Given the description of an element on the screen output the (x, y) to click on. 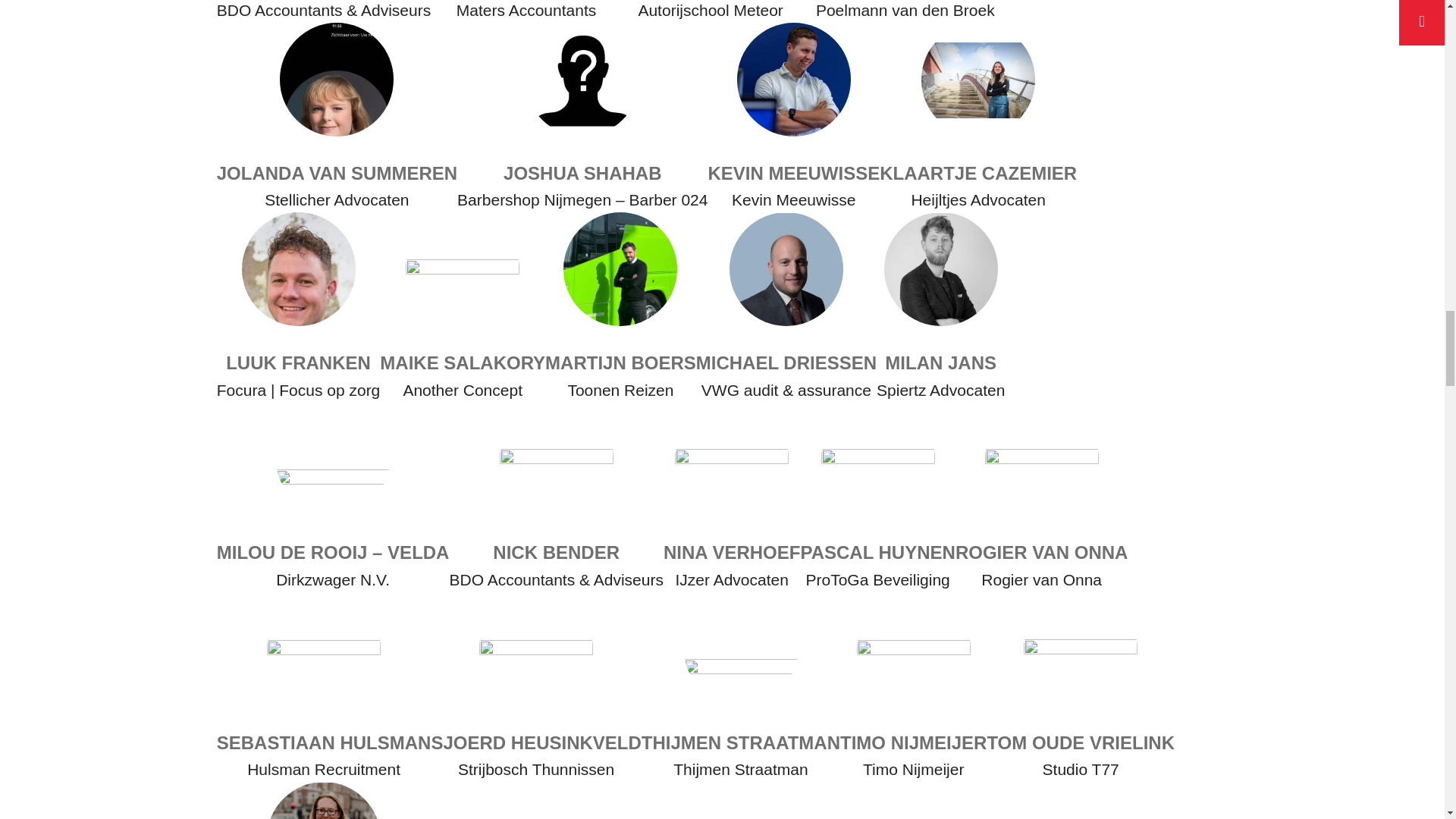
Lees meer (1043, 692)
Lees meer (1043, 482)
Lees meer (1043, 36)
Lees meer (1043, 272)
